Given the description of an element on the screen output the (x, y) to click on. 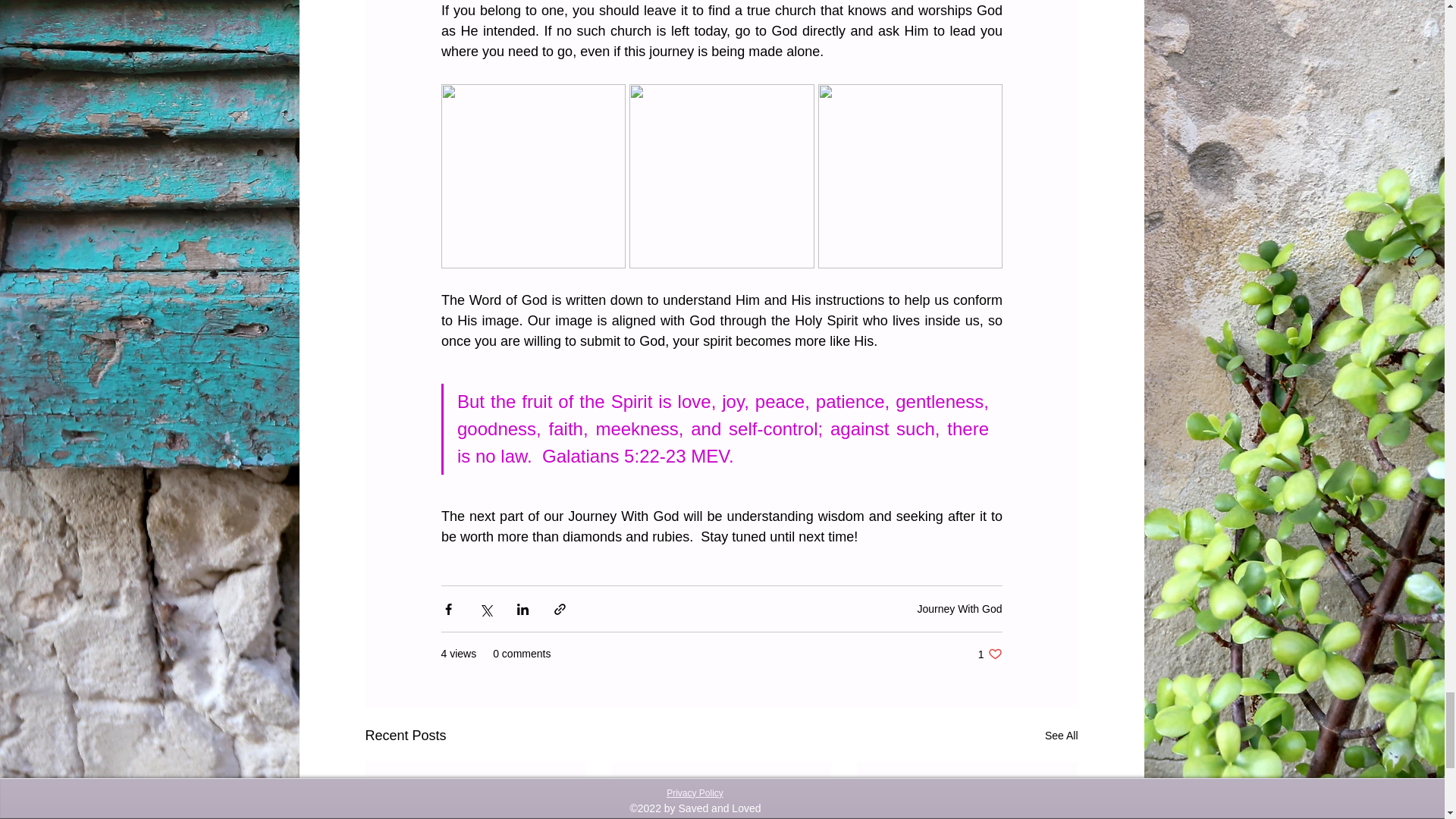
Journey With God (959, 608)
See All (1061, 735)
